Given the description of an element on the screen output the (x, y) to click on. 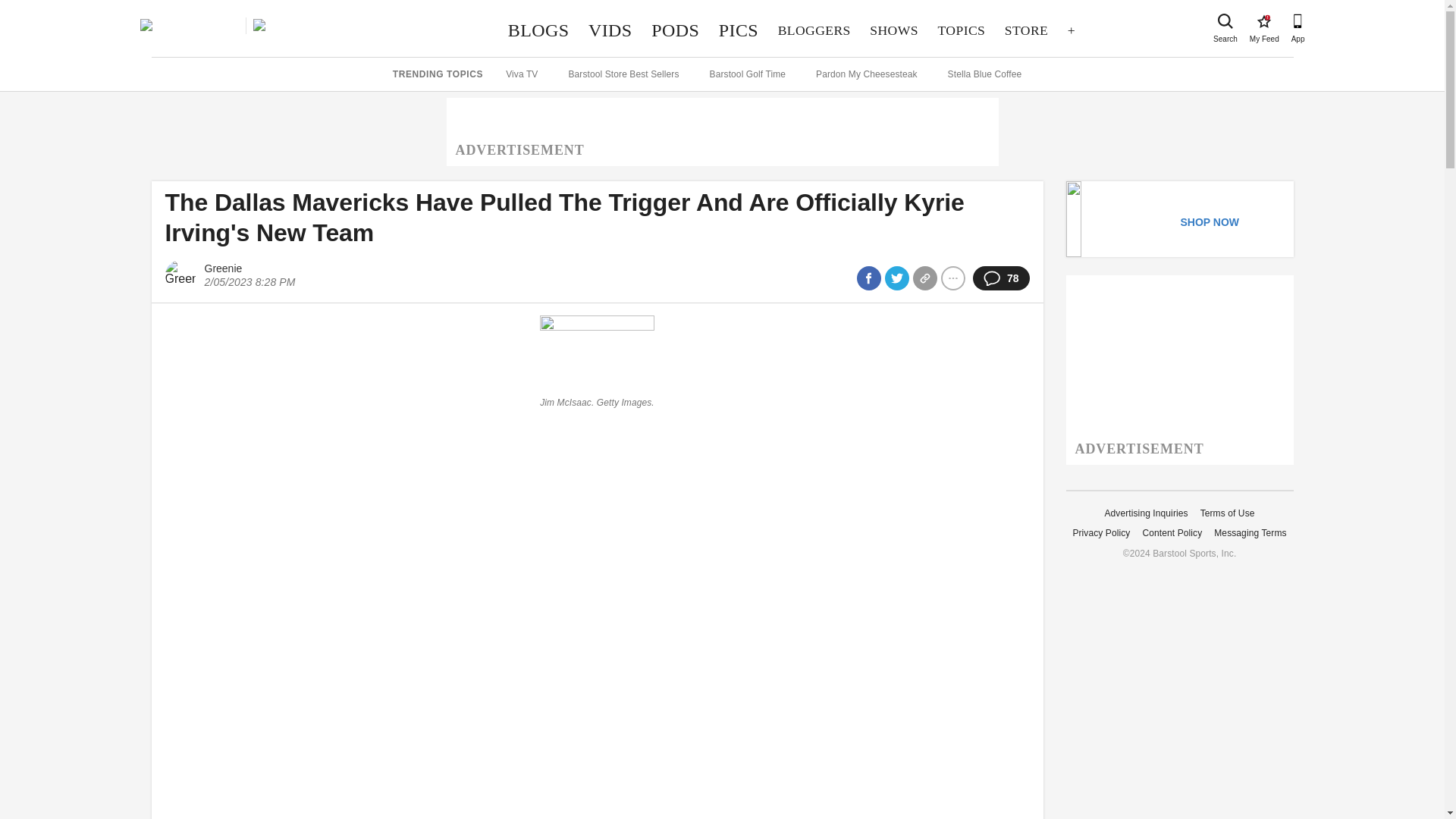
PICS (738, 30)
BLOGS (537, 30)
STORE (1026, 30)
TOPICS (961, 30)
BLOGGERS (814, 30)
Search (1225, 20)
VIDS (610, 30)
SHOWS (1263, 20)
PODS (894, 30)
